Given the description of an element on the screen output the (x, y) to click on. 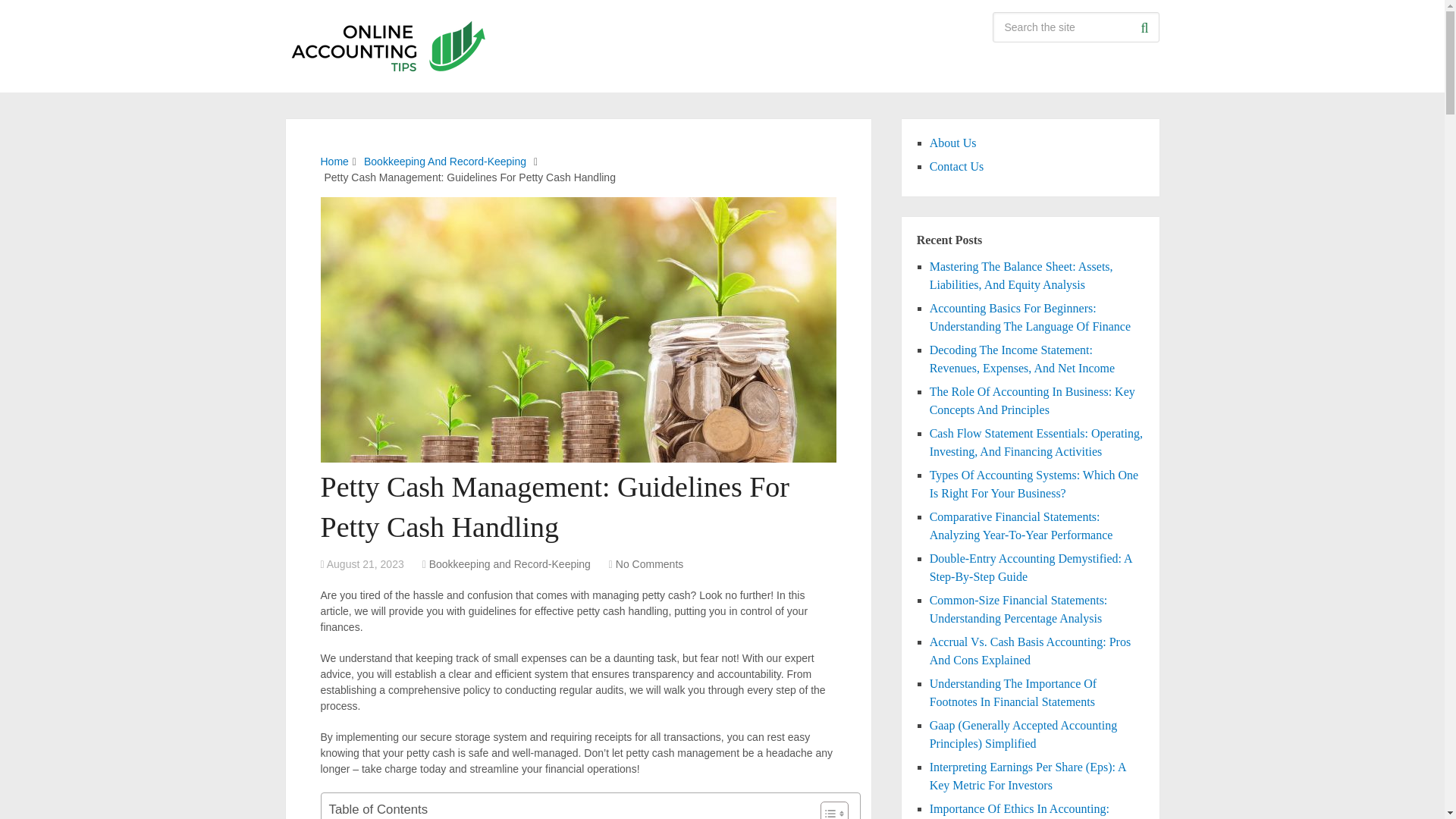
Bookkeeping And Record-Keeping (444, 161)
Search (1143, 27)
About Us (953, 142)
View all posts in Bookkeeping and Record-Keeping (510, 563)
No Comments (648, 563)
Home (333, 161)
Contact Us (957, 165)
Bookkeeping and Record-Keeping (510, 563)
